Given the description of an element on the screen output the (x, y) to click on. 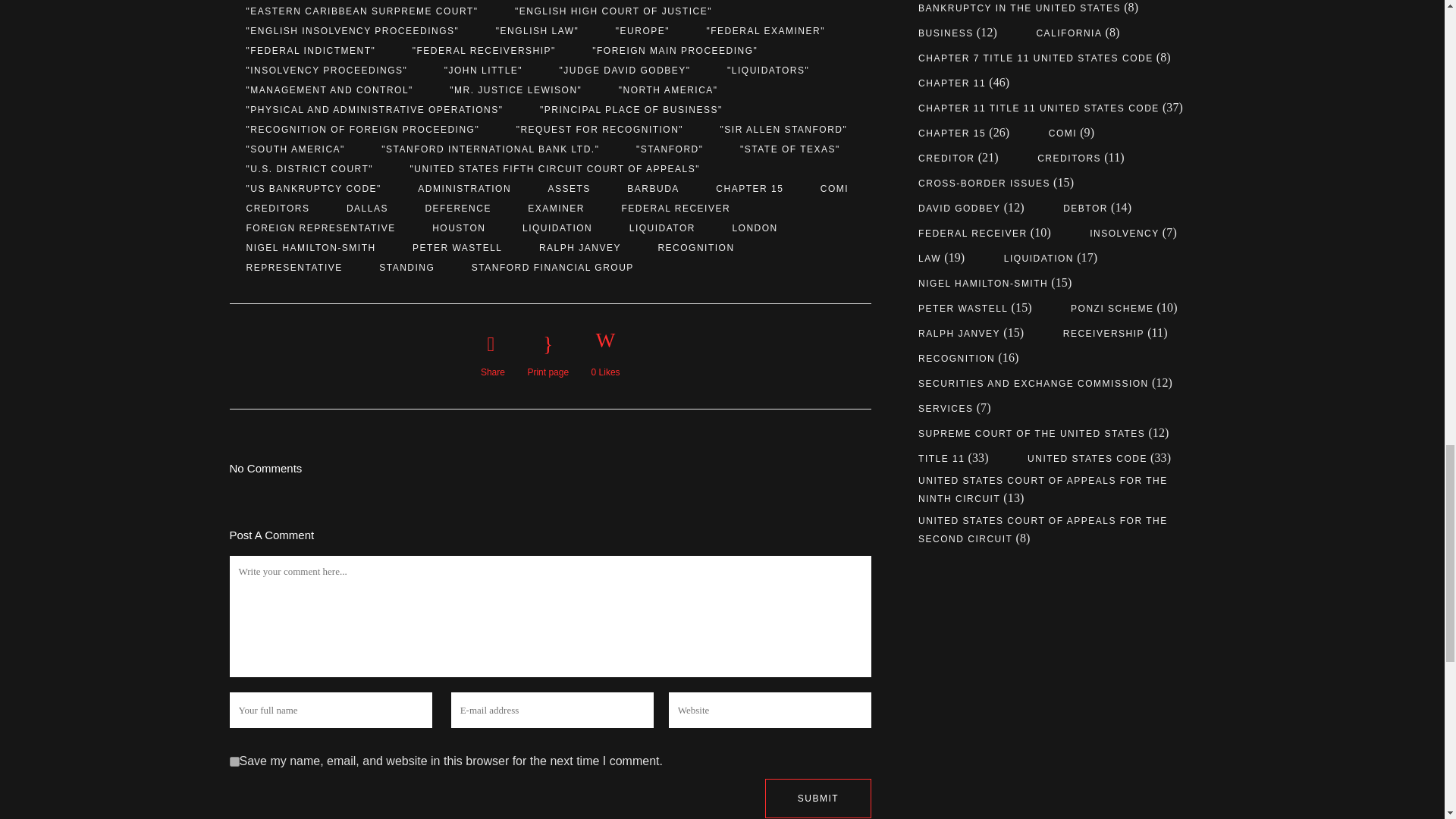
yes (233, 761)
Submit (817, 798)
